Given the description of an element on the screen output the (x, y) to click on. 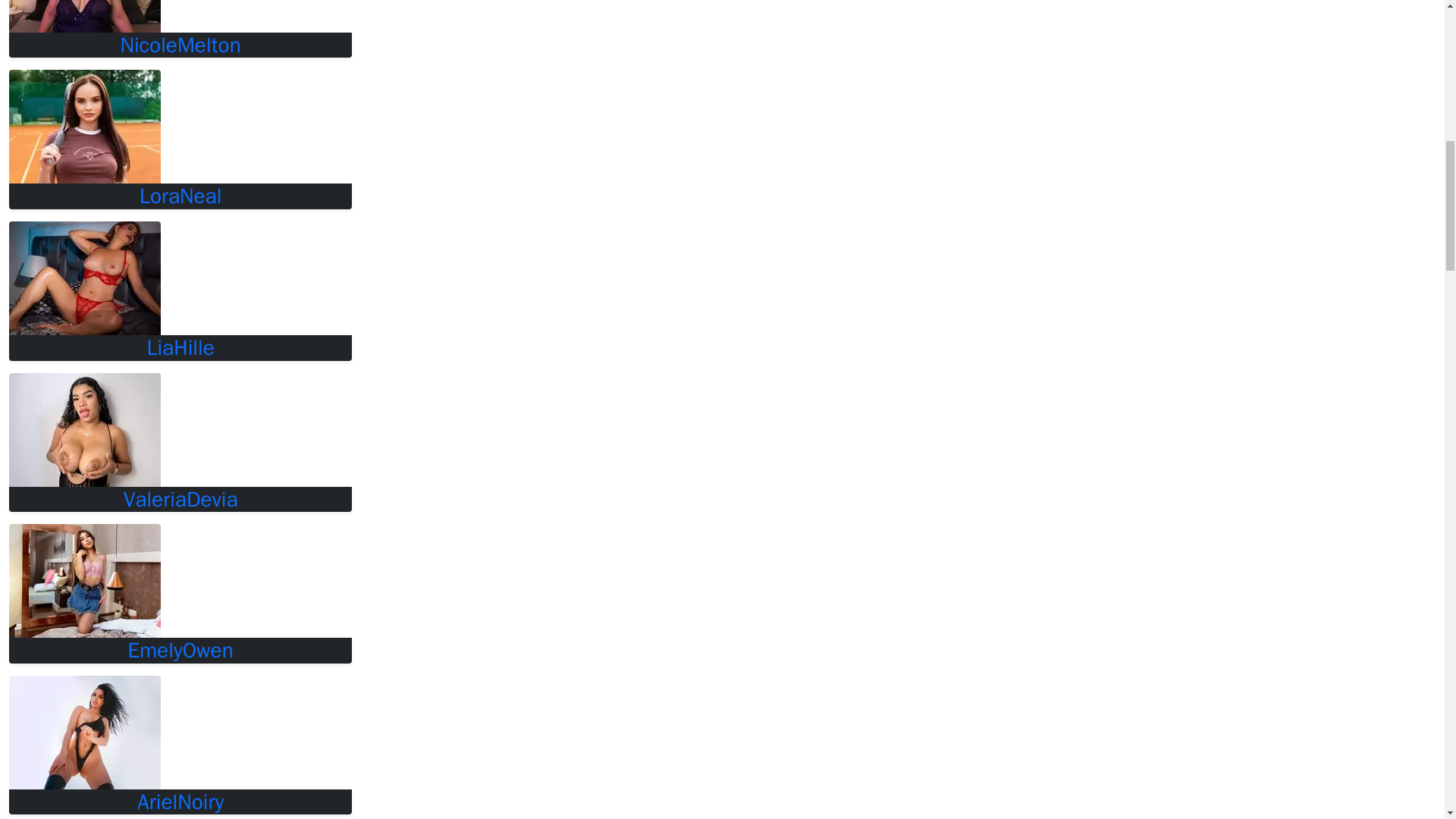
NicoleMelton (180, 45)
LoraNeal (180, 196)
